Given the description of an element on the screen output the (x, y) to click on. 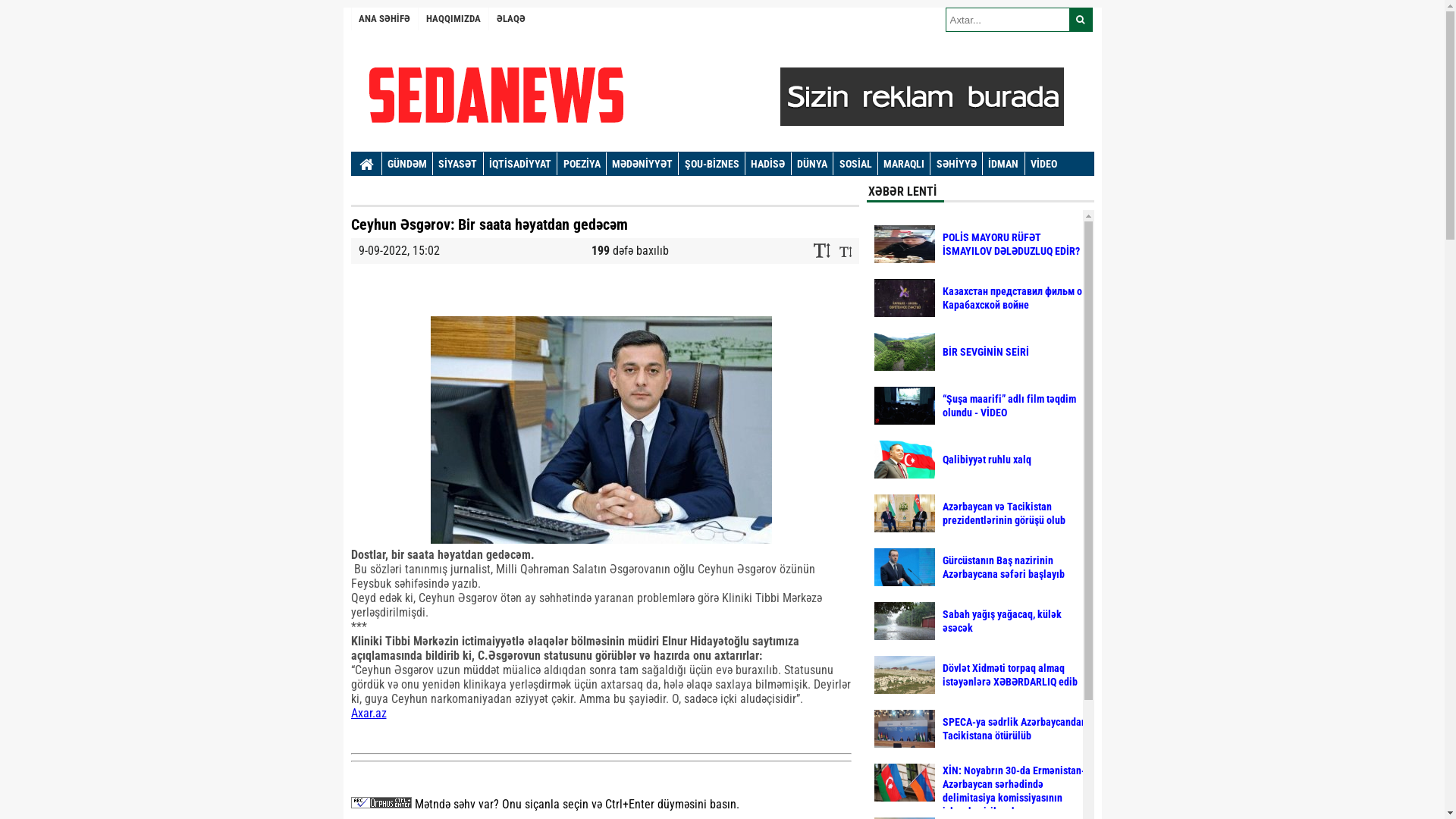
sedanews.az Element type: hover (729, 94)
HAQQIMIZDA Element type: text (452, 18)
Axar.az Element type: text (367, 713)
MARAQLI Element type: text (903, 163)
